Given the description of an element on the screen output the (x, y) to click on. 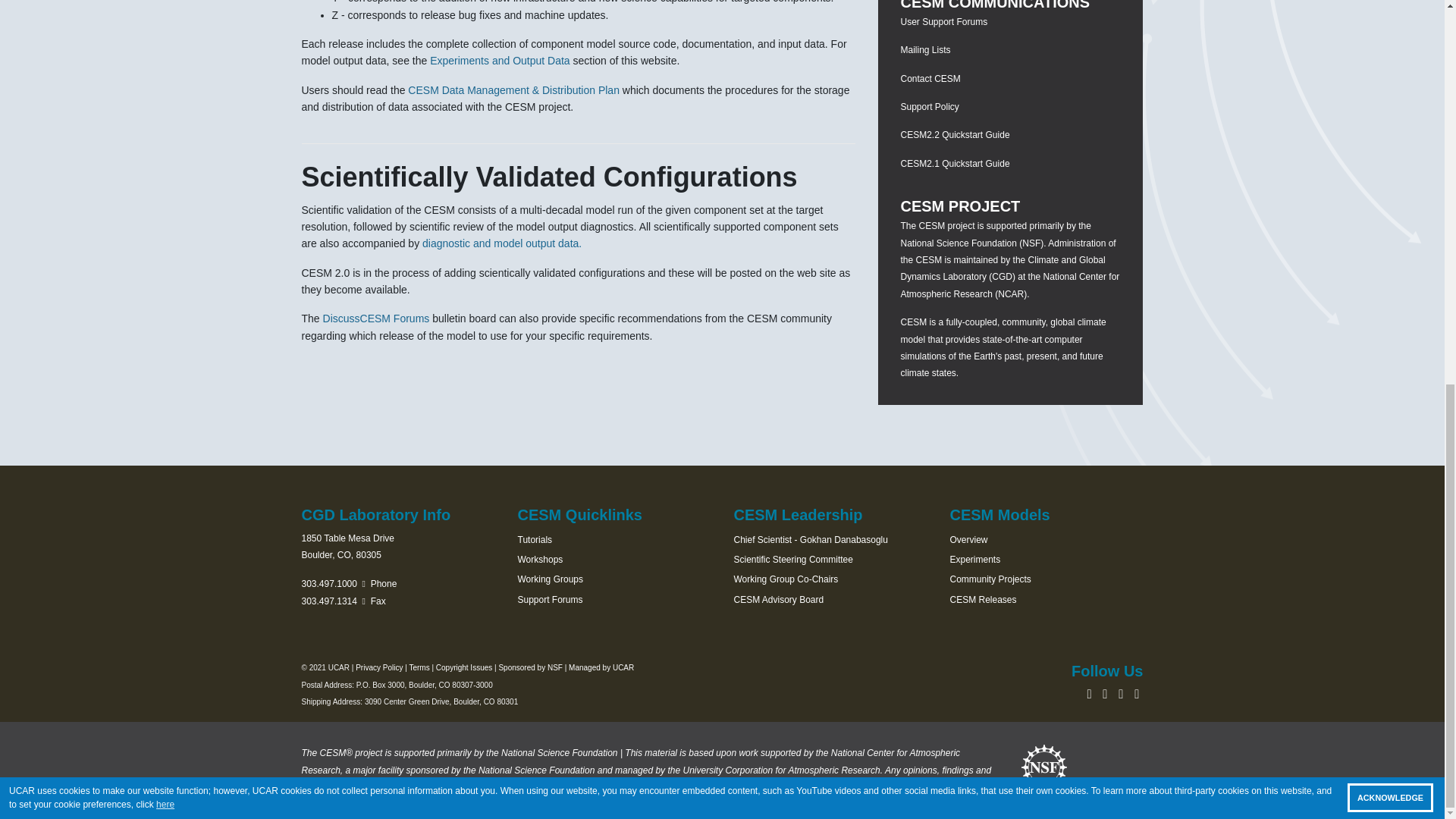
NSF Logo (1044, 767)
here (164, 82)
ACKNOWLEDGE (1390, 75)
